Given the description of an element on the screen output the (x, y) to click on. 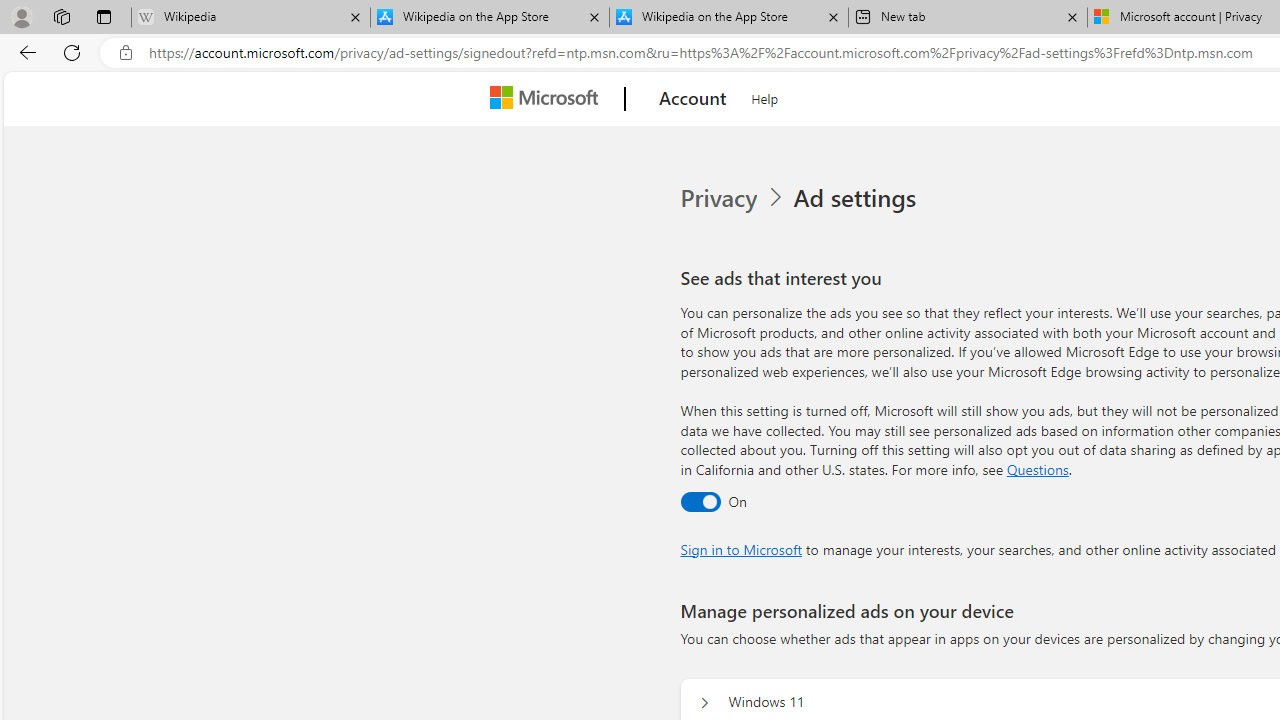
Refresh (72, 52)
View site information (125, 53)
Account (692, 99)
Go to Questions section (1037, 468)
Privacy (720, 197)
Privacy (734, 197)
Close tab (1072, 16)
Sign in to Microsoft (740, 548)
Help (765, 96)
Personal Profile (21, 16)
Ad settings (858, 197)
Wikipedia - Sleeping (250, 17)
Back (24, 52)
Manage personalized ads on your device Windows 11 (704, 702)
